Given the description of an element on the screen output the (x, y) to click on. 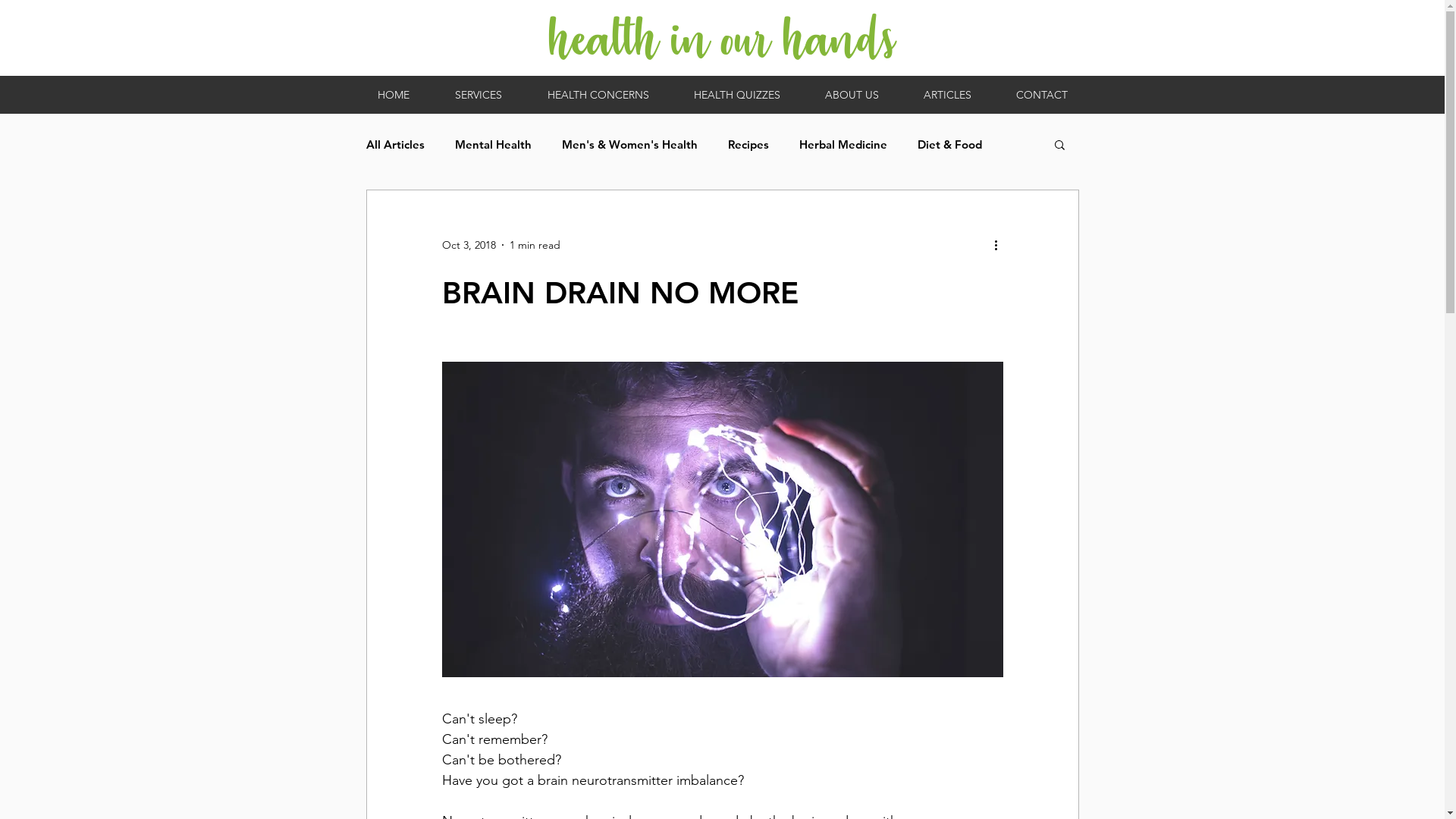
Men's & Women's Health Element type: text (628, 143)
CONTACT Element type: text (1041, 94)
Mental Health Element type: text (493, 143)
ARTICLES Element type: text (946, 94)
health in our hands Element type: text (722, 37)
Herbal Medicine Element type: text (843, 143)
Diet & Food Element type: text (949, 143)
SERVICES Element type: text (478, 94)
All Articles Element type: text (394, 143)
Recipes Element type: text (748, 143)
HEALTH CONCERNS Element type: text (597, 94)
HEALTH QUIZZES Element type: text (735, 94)
HOME Element type: text (392, 94)
